Given the description of an element on the screen output the (x, y) to click on. 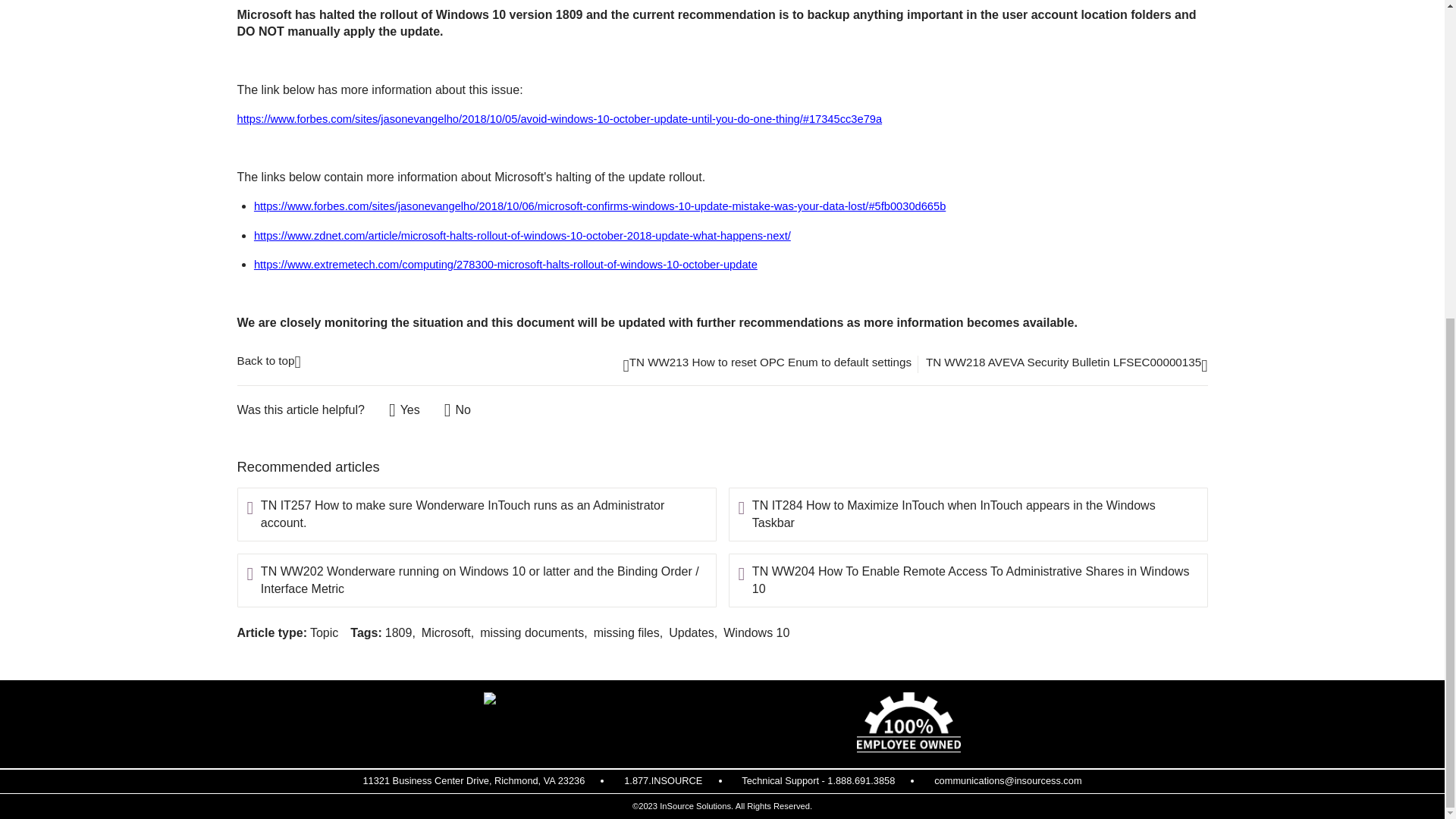
TN WW218 AVEVA Security Bulletin LFSEC00000135 (1067, 364)
TN WW218 AVEVA Security Bulletin LFSEC00000135 (1067, 364)
TN WW213 How to reset OPC Enum to default settings (767, 364)
Back to top (267, 359)
